Given the description of an element on the screen output the (x, y) to click on. 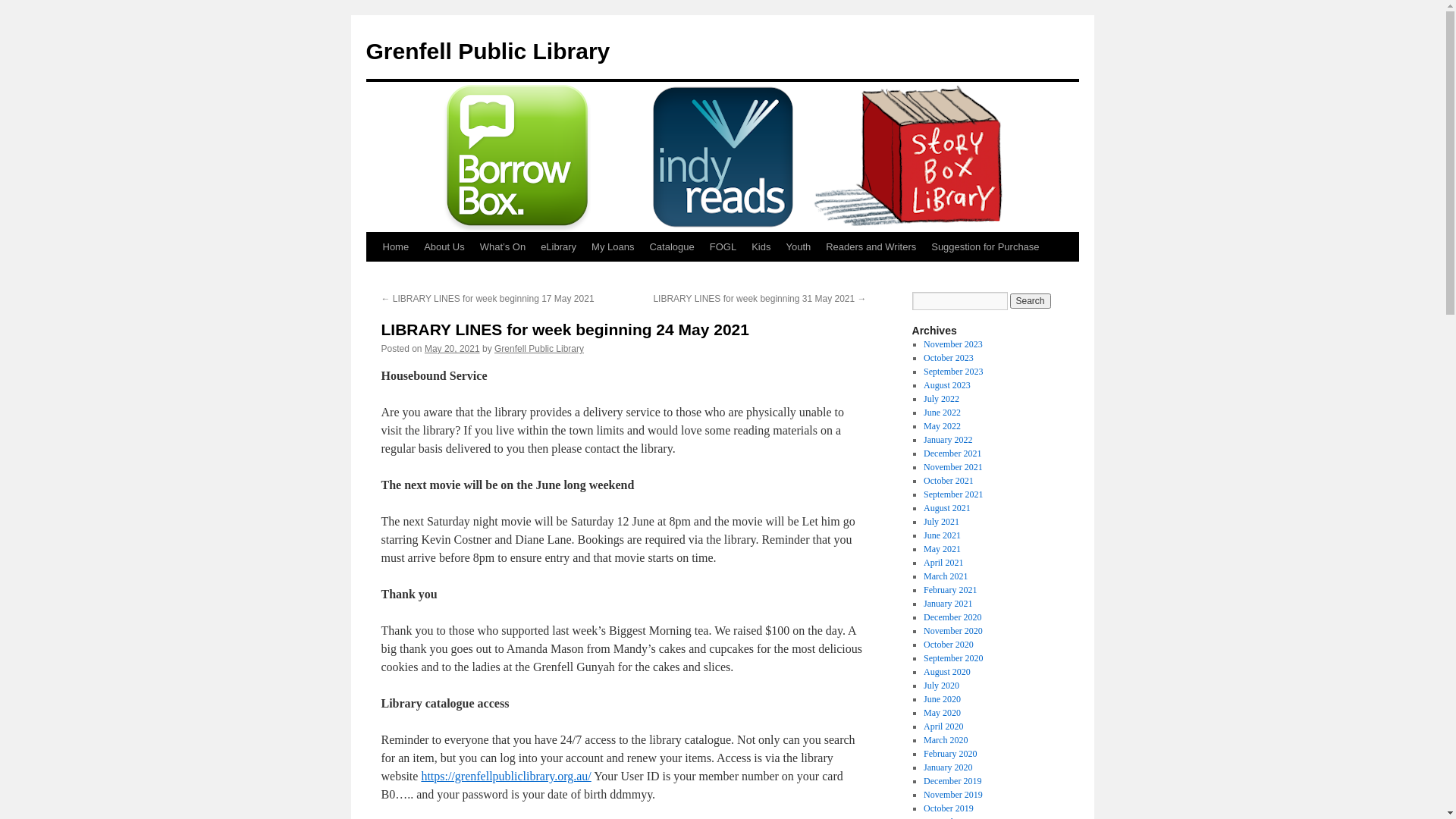
March 2021 Element type: text (945, 576)
eLibrary Element type: text (558, 246)
Kids Element type: text (760, 246)
August 2020 Element type: text (946, 671)
September 2021 Element type: text (952, 494)
November 2023 Element type: text (952, 343)
June 2020 Element type: text (941, 698)
January 2022 Element type: text (947, 439)
July 2020 Element type: text (941, 685)
October 2023 Element type: text (948, 357)
Grenfell Public Library Element type: text (487, 50)
October 2021 Element type: text (948, 480)
Search Element type: text (1030, 300)
February 2020 Element type: text (949, 753)
July 2021 Element type: text (941, 521)
September 2020 Element type: text (952, 657)
About Us Element type: text (443, 246)
October 2020 Element type: text (948, 644)
July 2022 Element type: text (941, 398)
https://grenfellpubliclibrary.org.au/ Element type: text (505, 775)
My Loans Element type: text (612, 246)
November 2021 Element type: text (952, 466)
December 2021 Element type: text (952, 453)
May 2022 Element type: text (941, 425)
Grenfell Public Library Element type: text (538, 348)
Readers and Writers Element type: text (870, 246)
September 2023 Element type: text (952, 371)
Catalogue Element type: text (671, 246)
March 2020 Element type: text (945, 739)
April 2020 Element type: text (943, 726)
April 2021 Element type: text (943, 562)
December 2020 Element type: text (952, 616)
December 2019 Element type: text (952, 780)
Suggestion for Purchase Element type: text (984, 246)
FOGL Element type: text (722, 246)
November 2019 Element type: text (952, 794)
February 2021 Element type: text (949, 589)
January 2021 Element type: text (947, 603)
May 2021 Element type: text (941, 548)
November 2020 Element type: text (952, 630)
Skip to content Element type: text (372, 275)
Home Element type: text (395, 246)
October 2019 Element type: text (948, 808)
Youth Element type: text (798, 246)
August 2021 Element type: text (946, 507)
August 2023 Element type: text (946, 384)
May 20, 2021 Element type: text (452, 348)
May 2020 Element type: text (941, 712)
June 2022 Element type: text (941, 412)
January 2020 Element type: text (947, 767)
June 2021 Element type: text (941, 535)
